Given the description of an element on the screen output the (x, y) to click on. 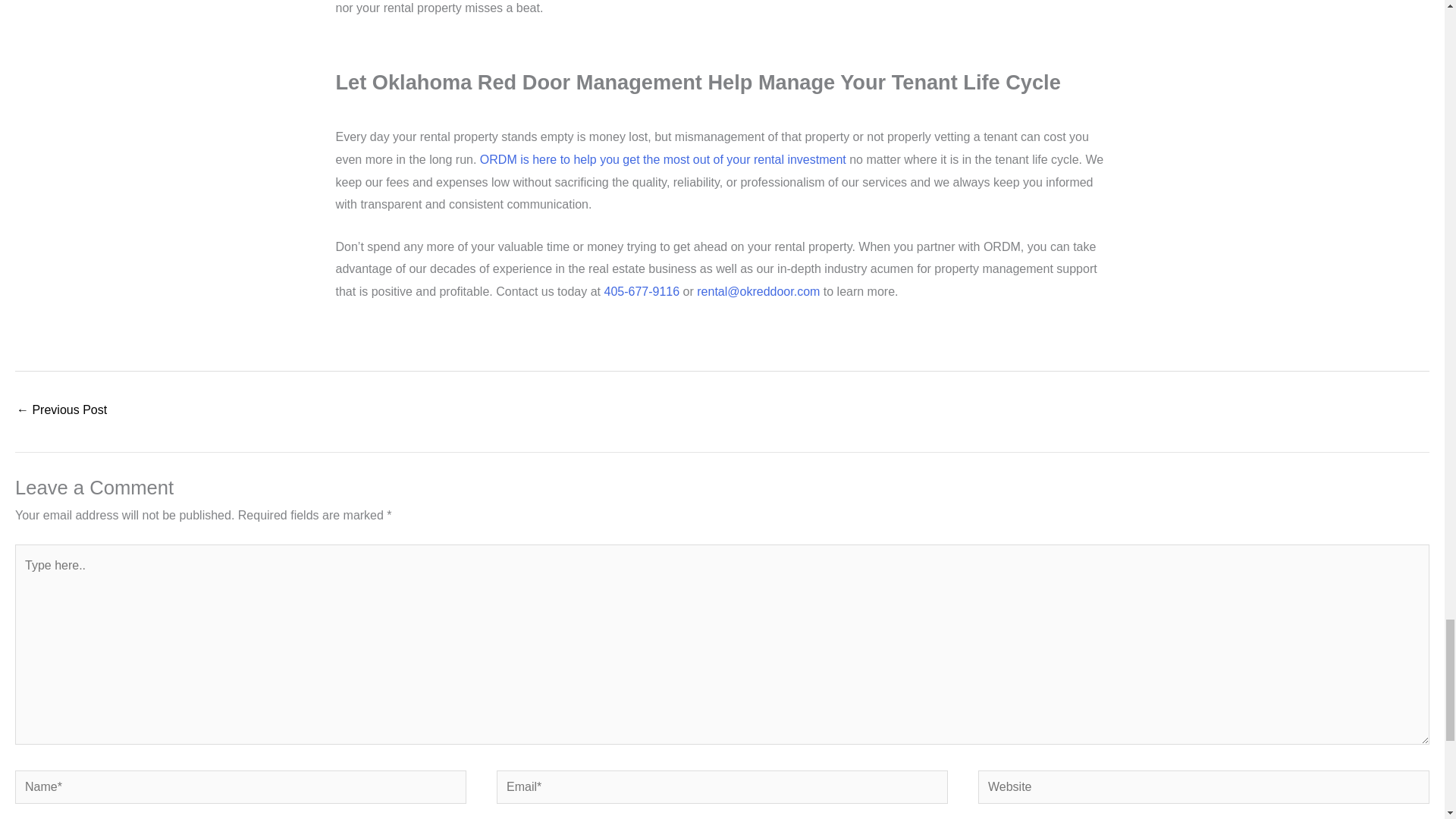
405-677-9116 (641, 291)
